Given the description of an element on the screen output the (x, y) to click on. 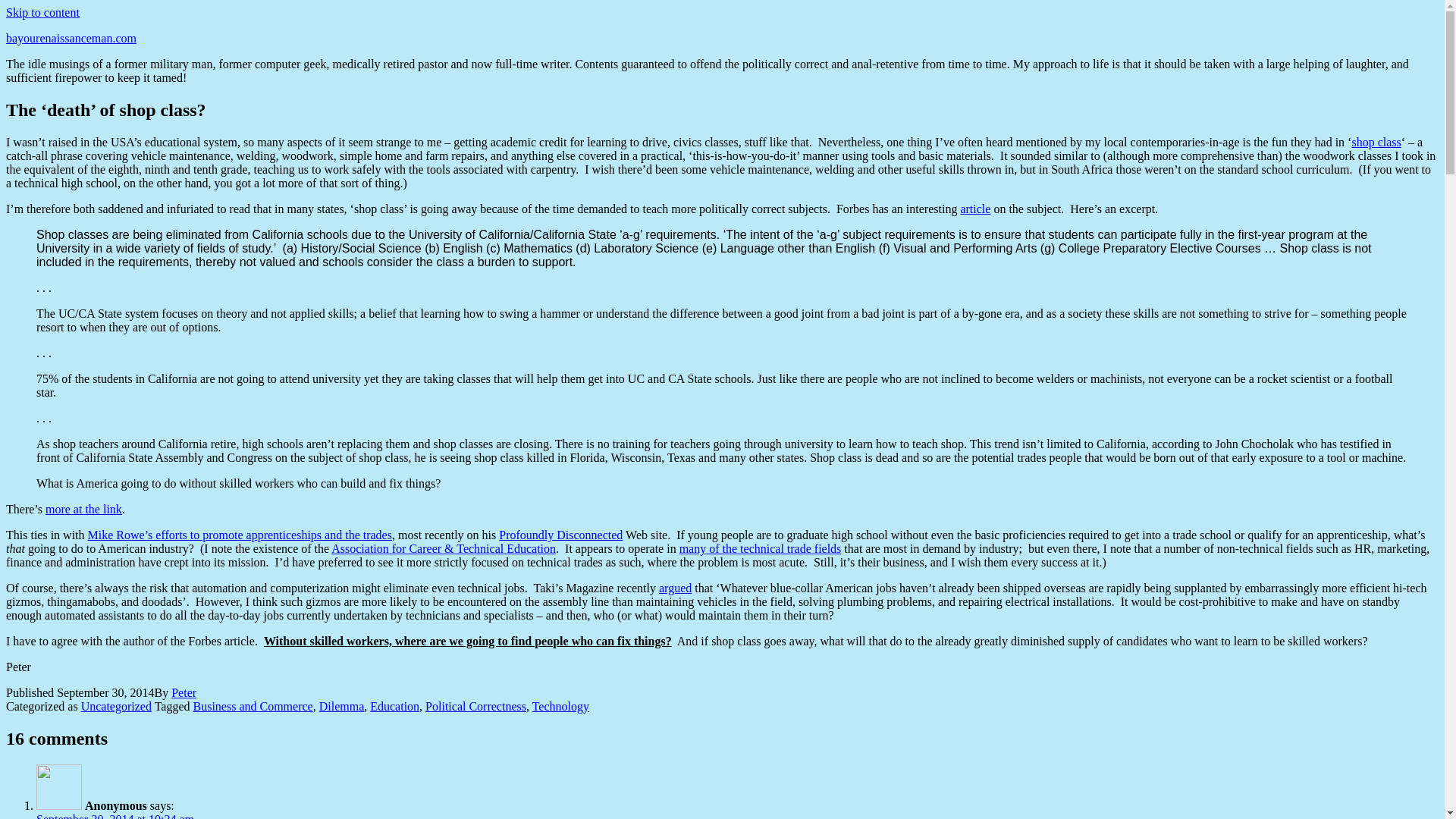
many of the technical trade fields (760, 548)
Technology (560, 706)
Uncategorized (116, 706)
Dilemma (341, 706)
Political Correctness (475, 706)
September 30, 2014 at 10:24 am (114, 816)
bayourenaissanceman.com (70, 38)
shop class (1375, 141)
argued (675, 587)
Business and Commerce (252, 706)
Skip to content (42, 11)
Profoundly Disconnected (561, 534)
article (974, 208)
more at the link (83, 508)
Peter (183, 692)
